Given the description of an element on the screen output the (x, y) to click on. 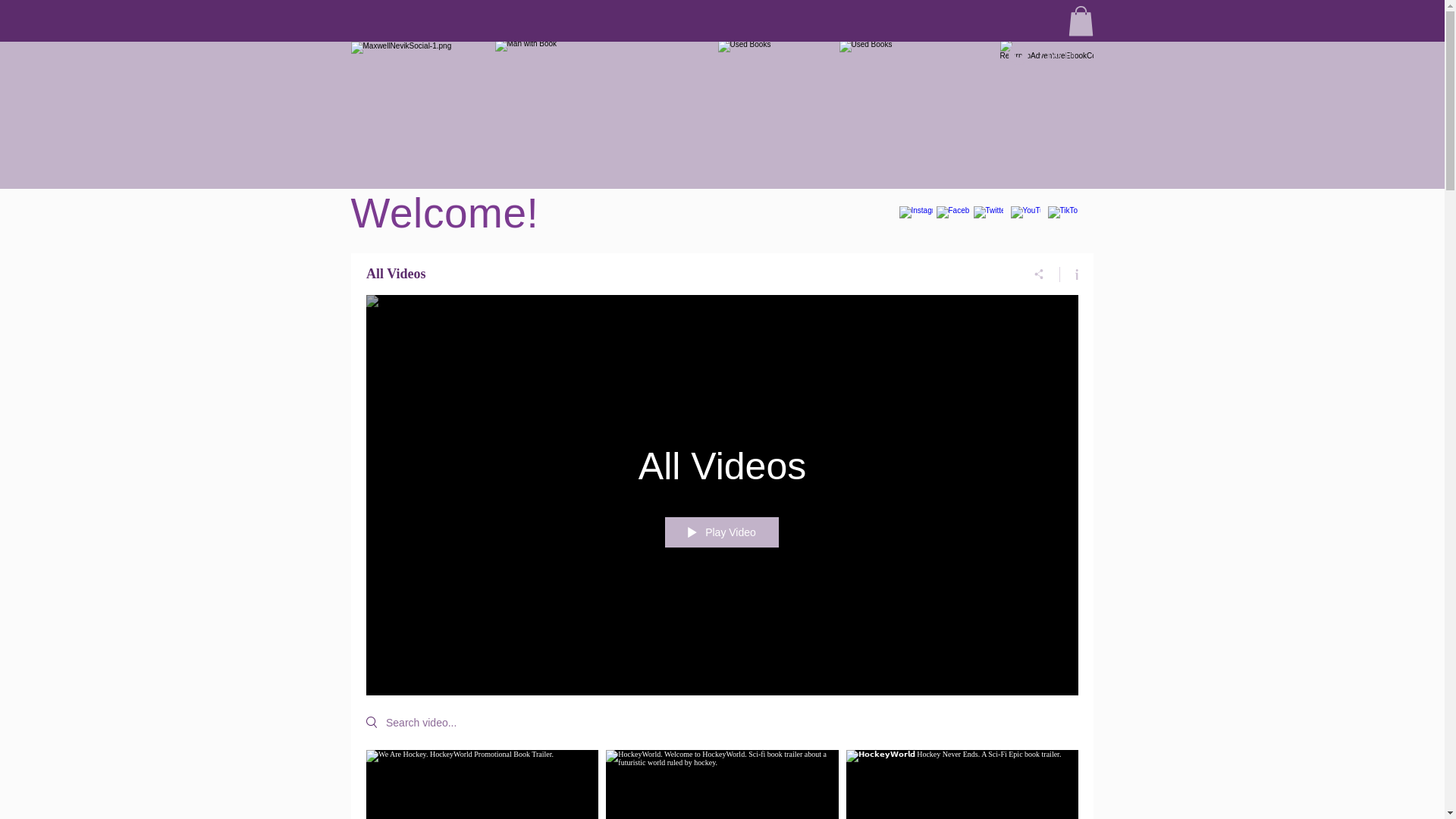
Log In (1041, 55)
Play Video (721, 532)
All Videos (721, 466)
All Videos (684, 274)
